Given the description of an element on the screen output the (x, y) to click on. 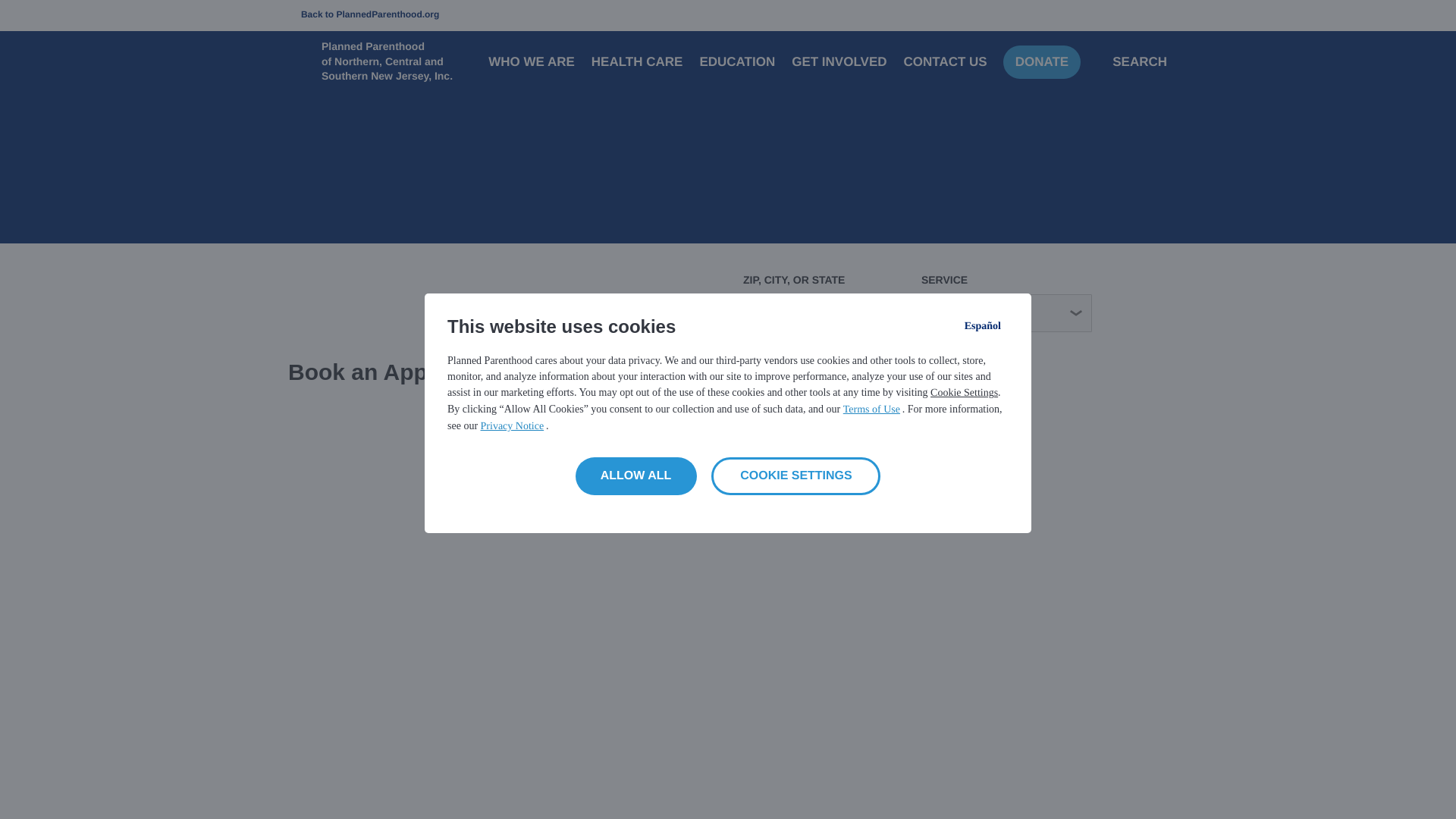
Follow us on (345, 720)
Follow us on (388, 720)
Follow us on (430, 720)
Follow us on (303, 720)
Follow us on (472, 720)
